Given the description of an element on the screen output the (x, y) to click on. 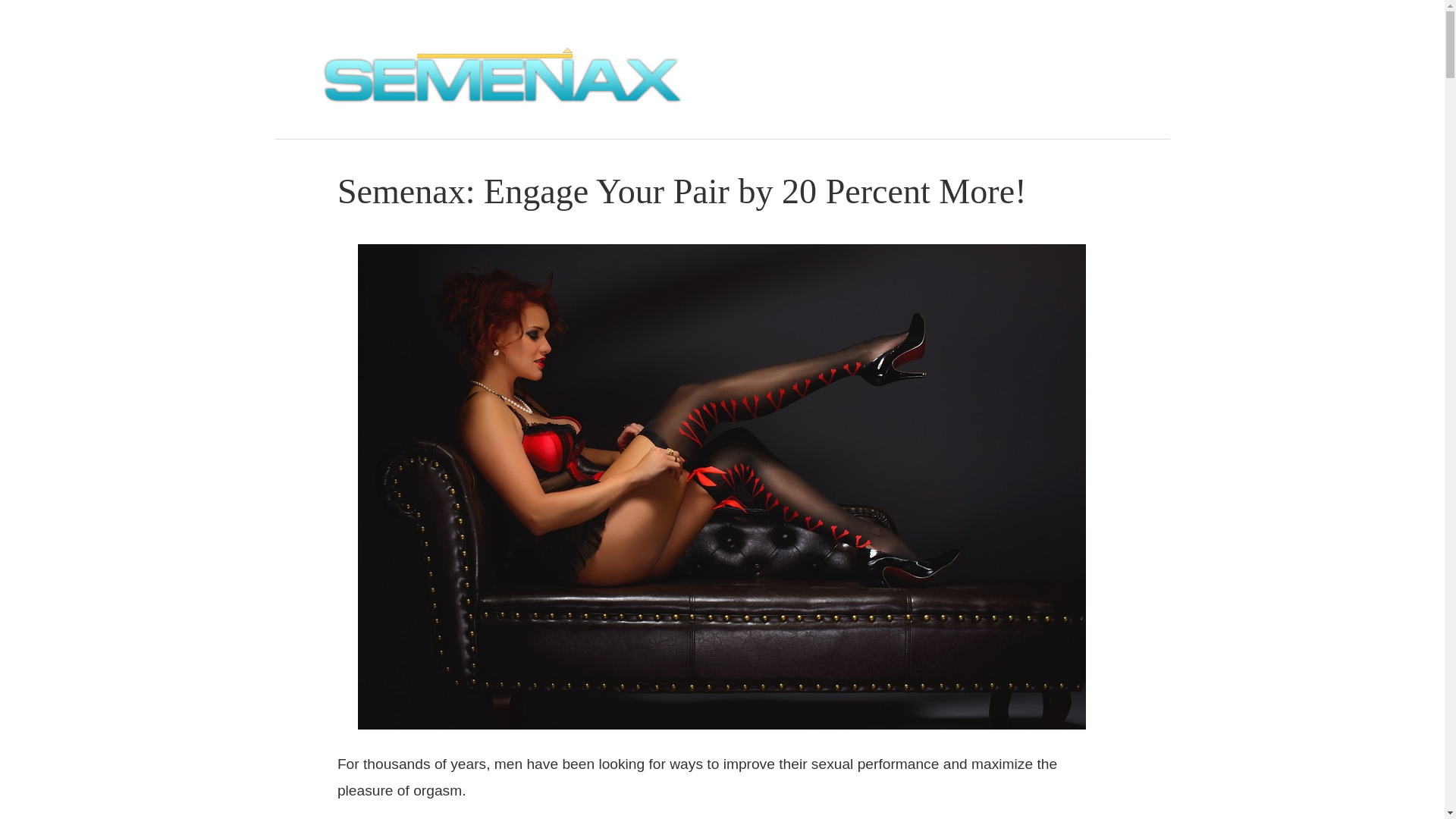
Semenax: Engage Your Pair by 20 Percent More! (681, 190)
Semenax (502, 114)
Semenax: Engage Your Pair by 20 Percent More! (681, 190)
